Given the description of an element on the screen output the (x, y) to click on. 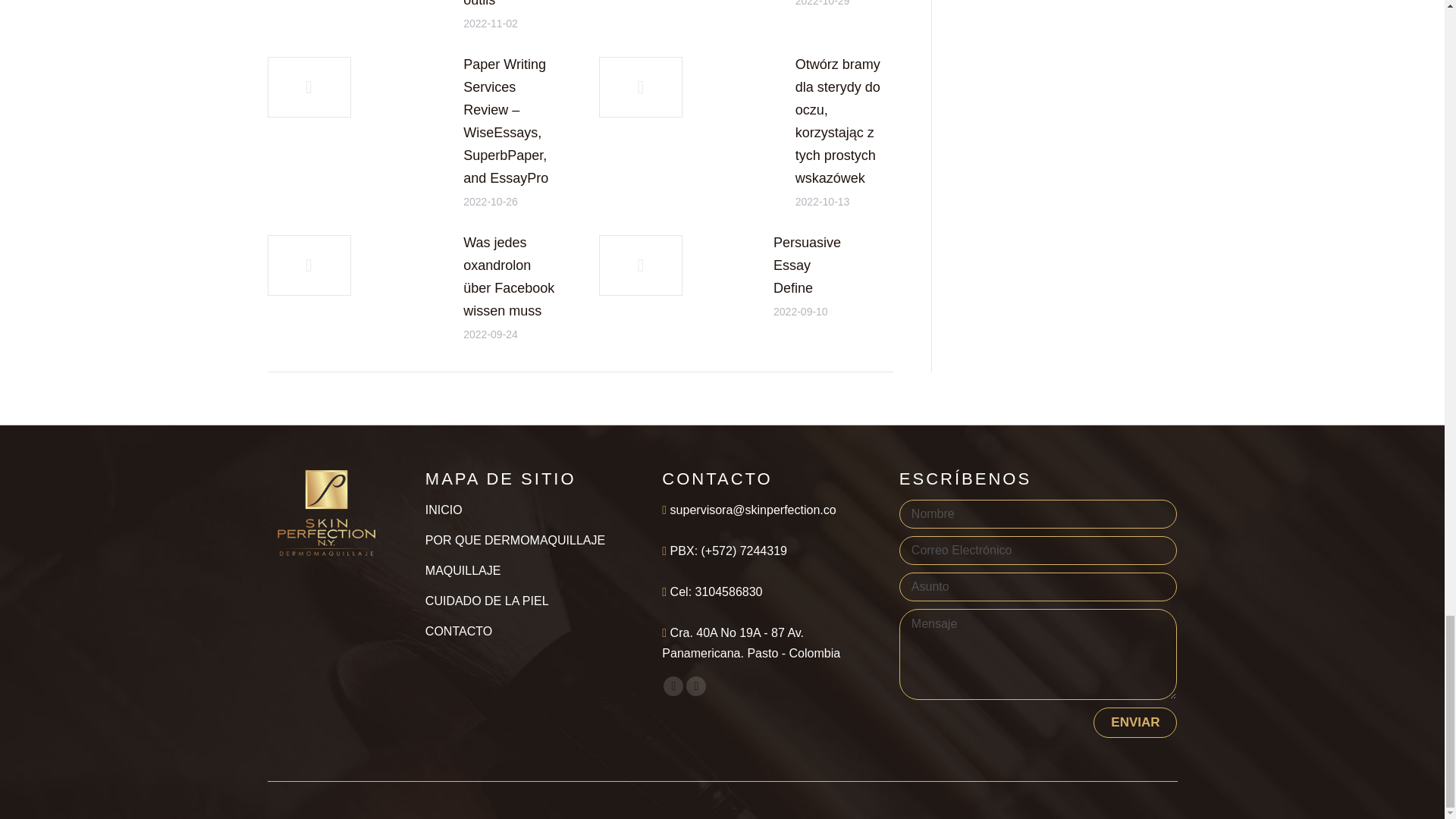
Instagram (695, 686)
ENVIAR (1134, 722)
Facebook (672, 686)
